Given the description of an element on the screen output the (x, y) to click on. 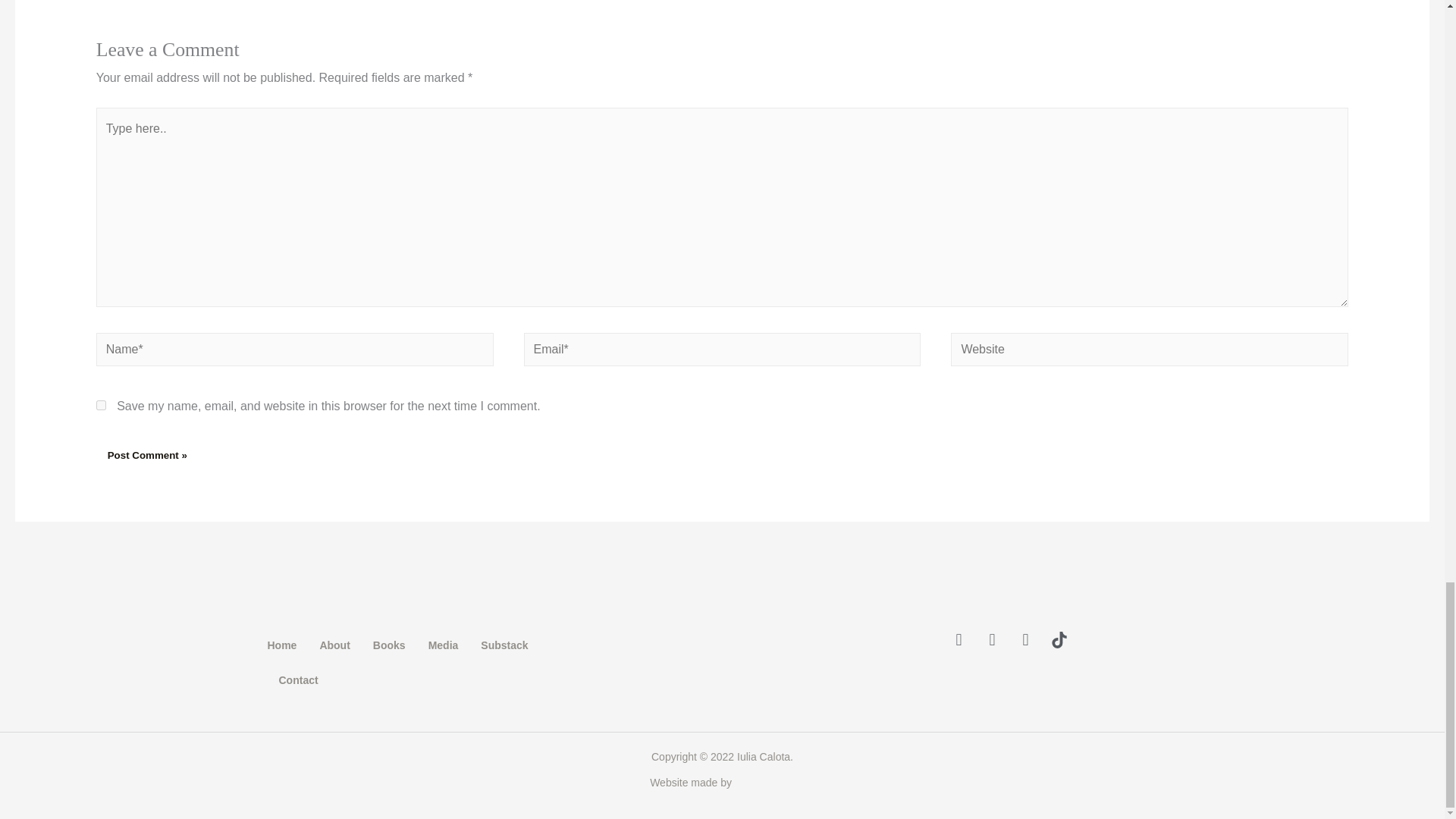
Contact (298, 679)
Substack (503, 645)
Books (389, 645)
yes (101, 405)
